Given the description of an element on the screen output the (x, y) to click on. 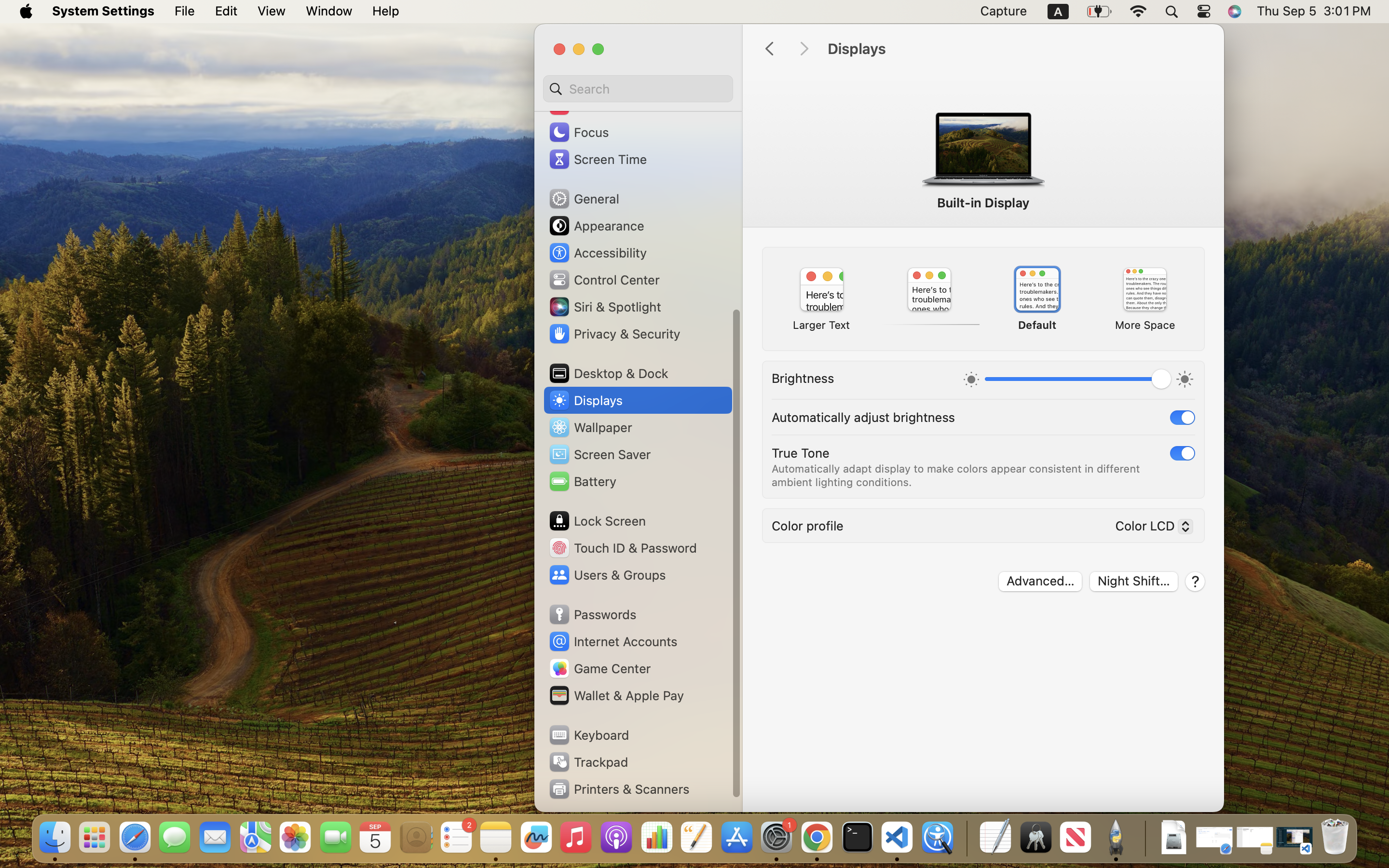
Internet Accounts Element type: AXStaticText (612, 640)
Game Center Element type: AXStaticText (599, 667)
Accessibility Element type: AXStaticText (597, 252)
Focus Element type: AXStaticText (577, 131)
